Given the description of an element on the screen output the (x, y) to click on. 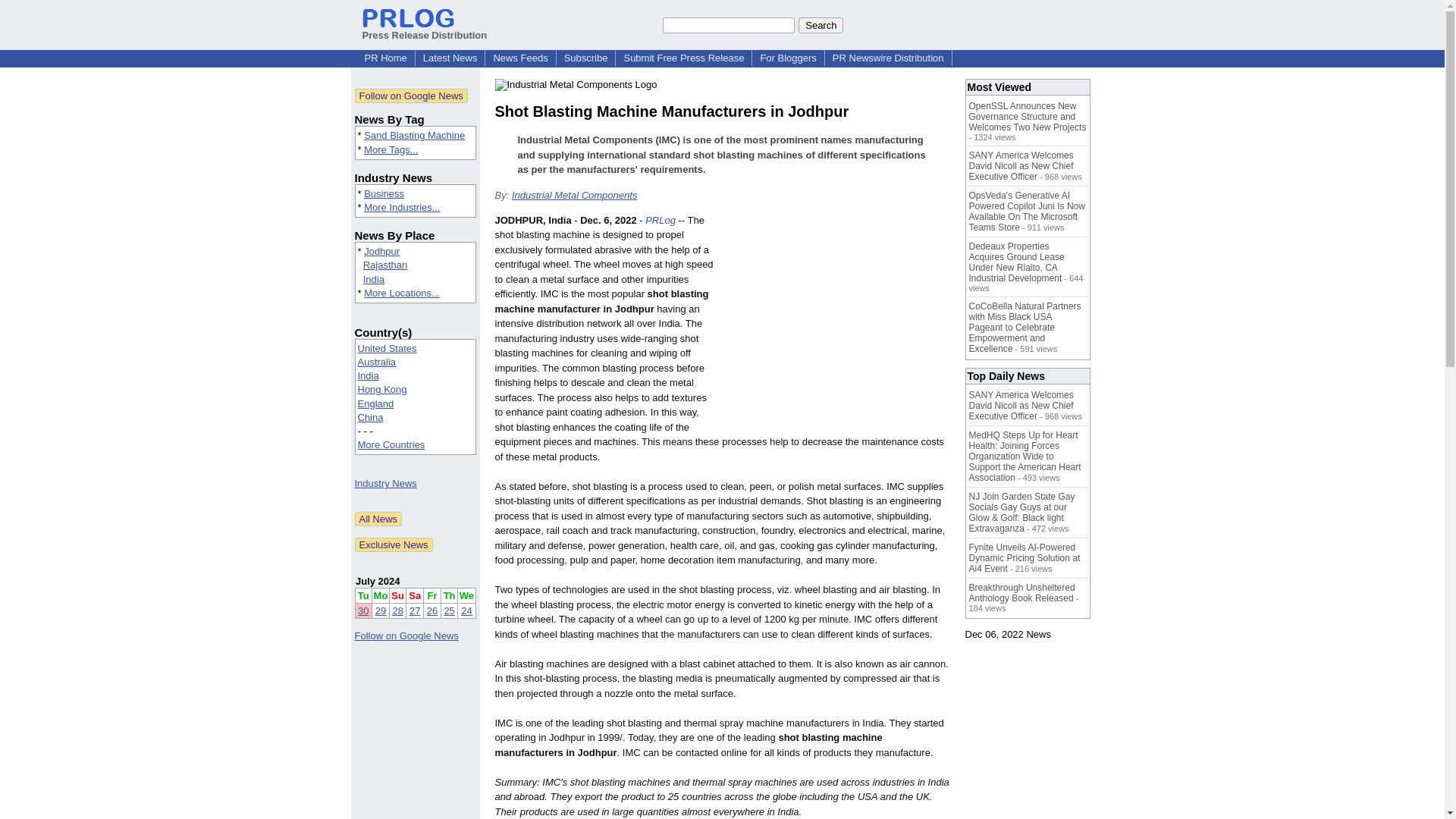
Subscribe (585, 57)
More Locations... (401, 292)
25 (449, 610)
PRLog (660, 220)
Search (820, 24)
Click on an option to filter or browse by that option (415, 397)
28 (397, 610)
Latest News (449, 57)
More Industries... (401, 206)
England (376, 403)
Jodhpur (381, 251)
Exclusive News (393, 544)
Rajasthan (384, 265)
India (368, 375)
Press Release Distribution (424, 29)
